Given the description of an element on the screen output the (x, y) to click on. 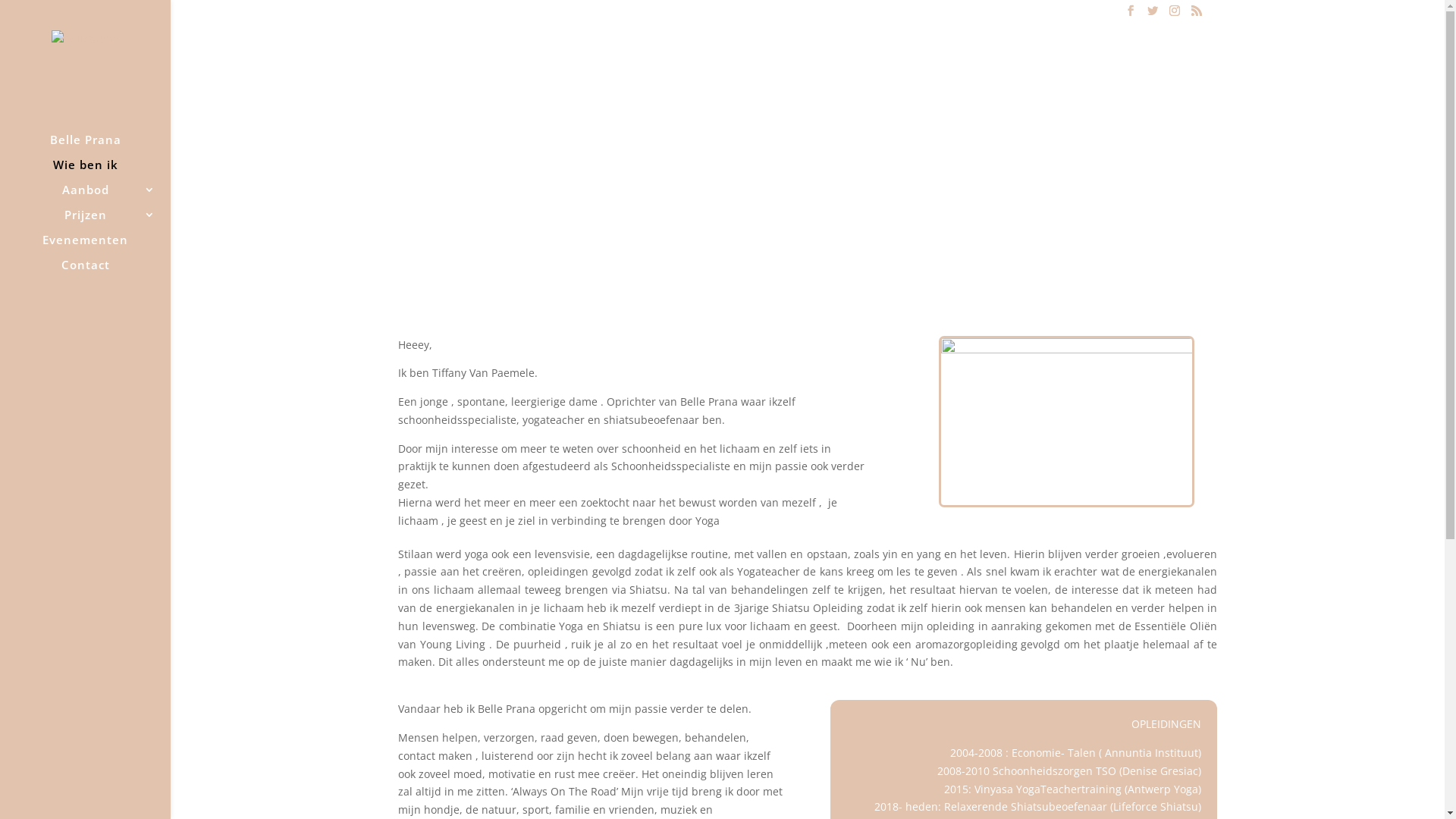
Contact Element type: text (100, 271)
Evenementen Element type: text (100, 246)
Face Element type: hover (1066, 421)
Belle Prana Element type: text (100, 146)
Wie ben ik Element type: text (100, 171)
Prijzen Element type: text (100, 221)
Aanbod Element type: text (100, 196)
